Given the description of an element on the screen output the (x, y) to click on. 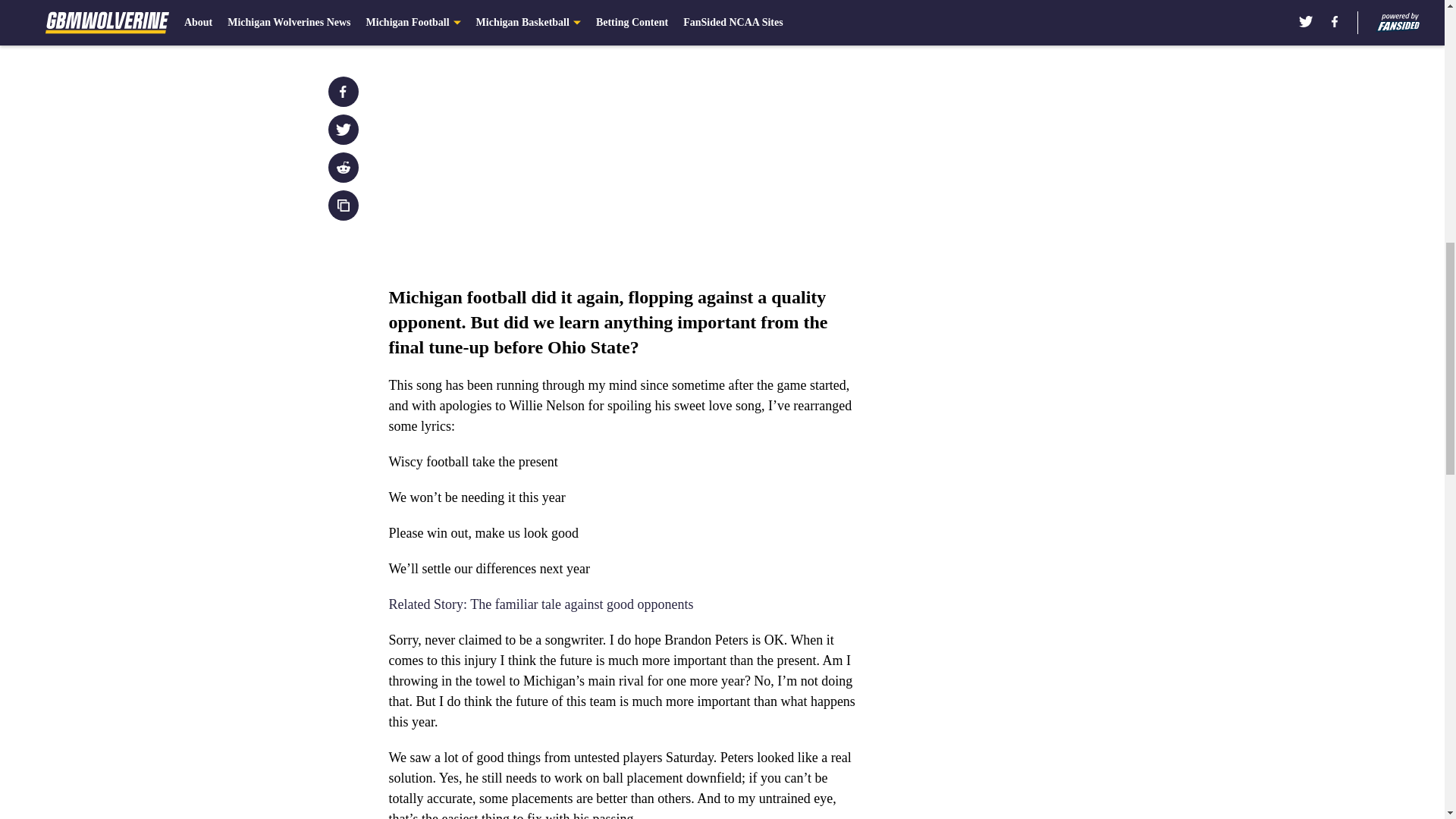
Related Story: The familiar tale against good opponents (540, 604)
